Given the description of an element on the screen output the (x, y) to click on. 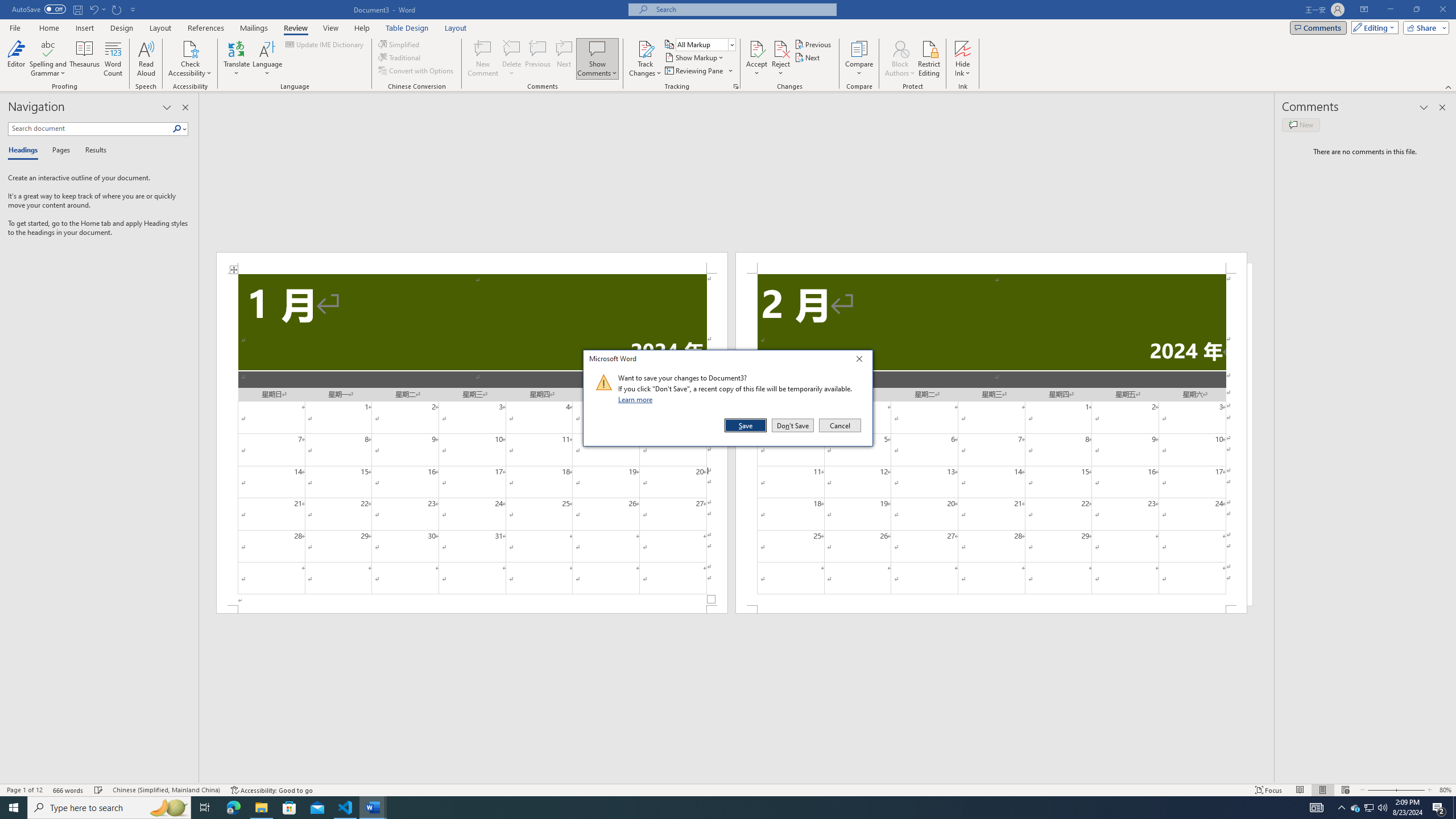
Visual Studio Code - 1 running window (1368, 807)
Spelling and Grammar (345, 807)
Language (48, 58)
Hide Ink (267, 58)
Q2790: 100% (962, 58)
Hide Ink (1382, 807)
Microsoft Edge (962, 48)
